Given the description of an element on the screen output the (x, y) to click on. 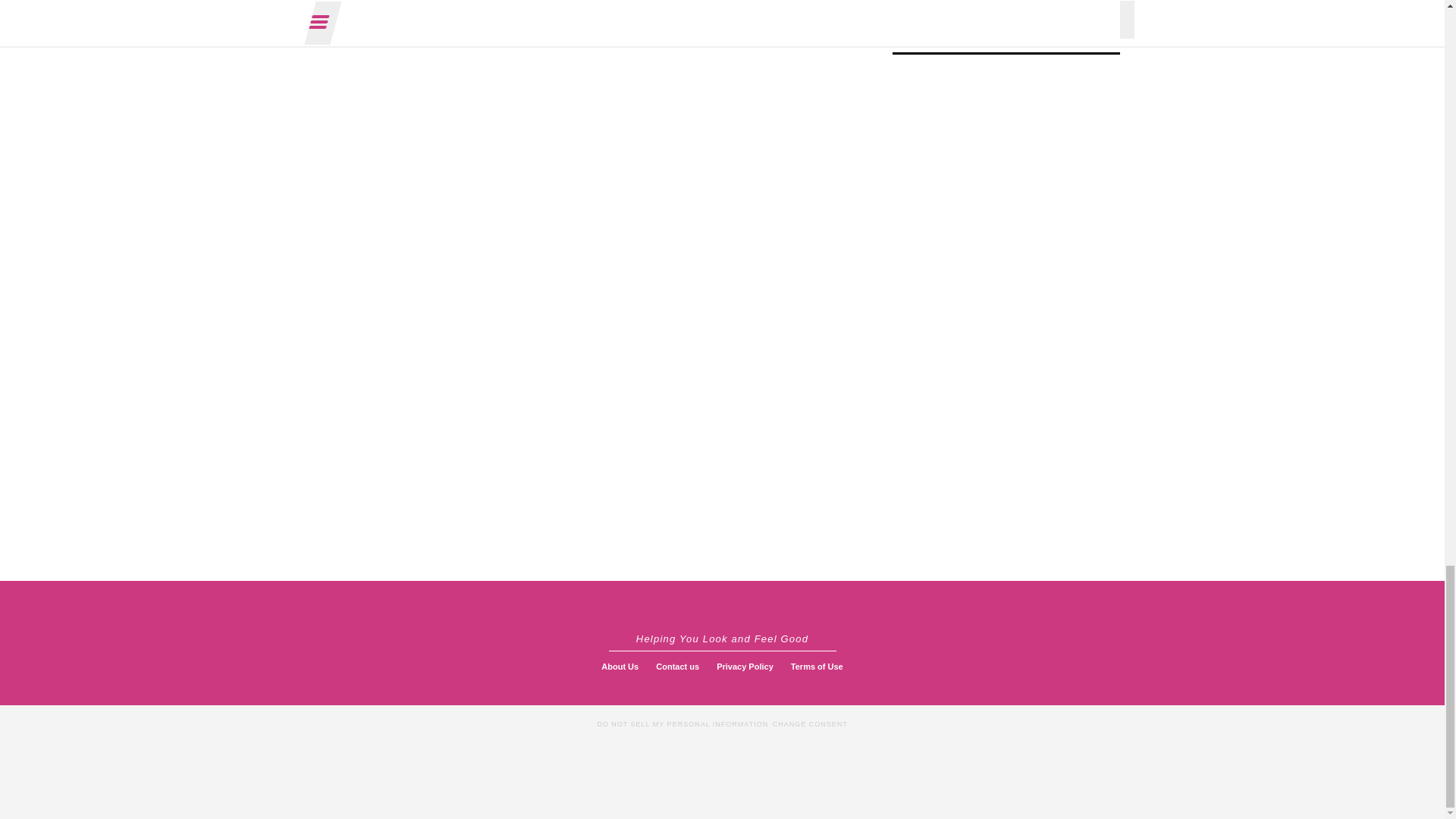
Terms of Use (816, 666)
DO NOT SELL MY PERSONAL INFORMATION (682, 723)
Contact us (676, 666)
Privacy Policy (744, 666)
About Us (620, 666)
CHANGE CONSENT (810, 723)
